Given the description of an element on the screen output the (x, y) to click on. 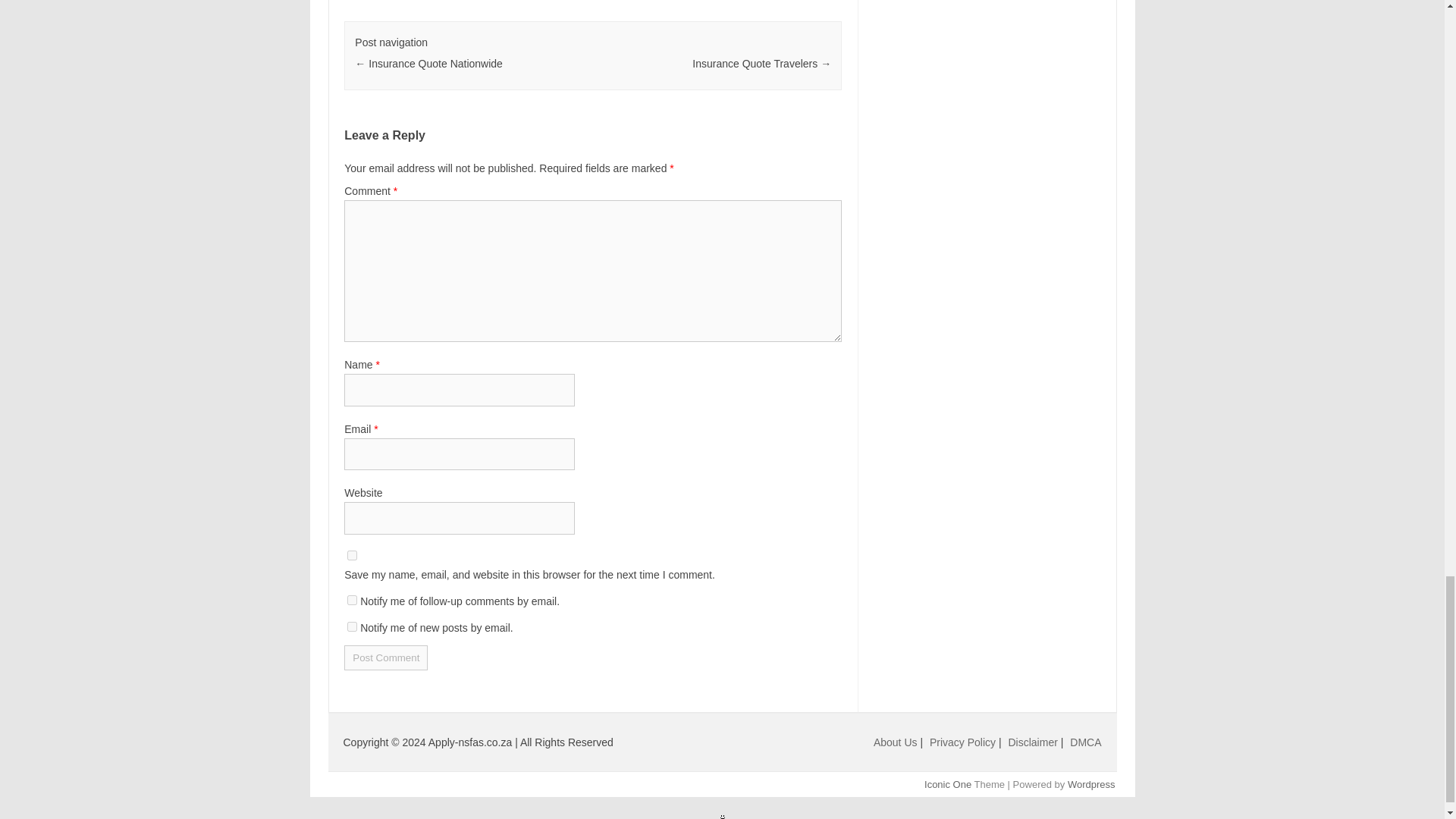
Disclaimer (1035, 742)
DMCA (1085, 742)
Iconic One (947, 784)
subscribe (351, 626)
yes (351, 555)
subscribe (351, 600)
Wordpress (1091, 784)
Post Comment (385, 657)
Privacy Policy (964, 742)
About Us (895, 742)
